Given the description of an element on the screen output the (x, y) to click on. 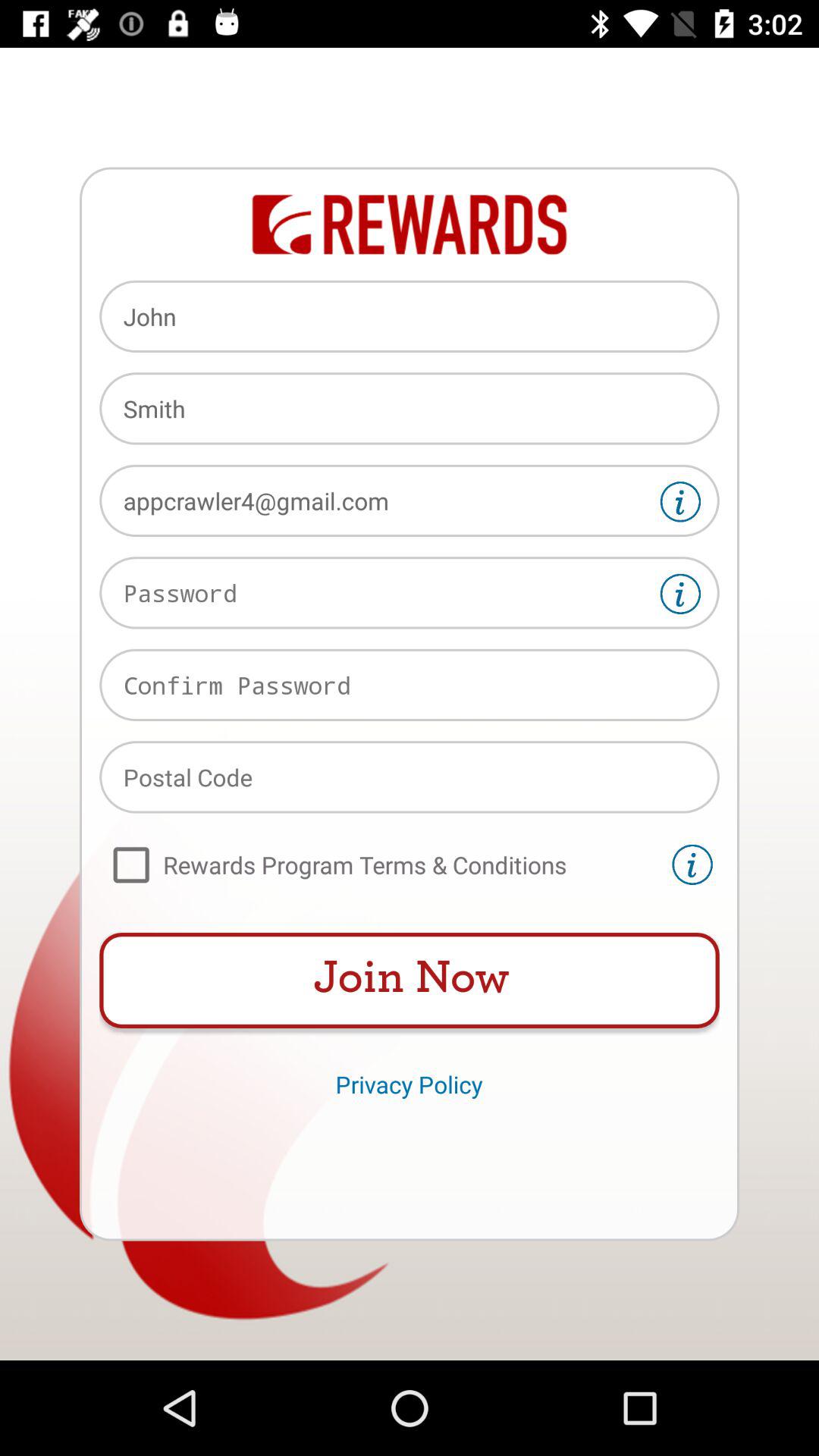
select the privacy policy item (408, 1084)
